Given the description of an element on the screen output the (x, y) to click on. 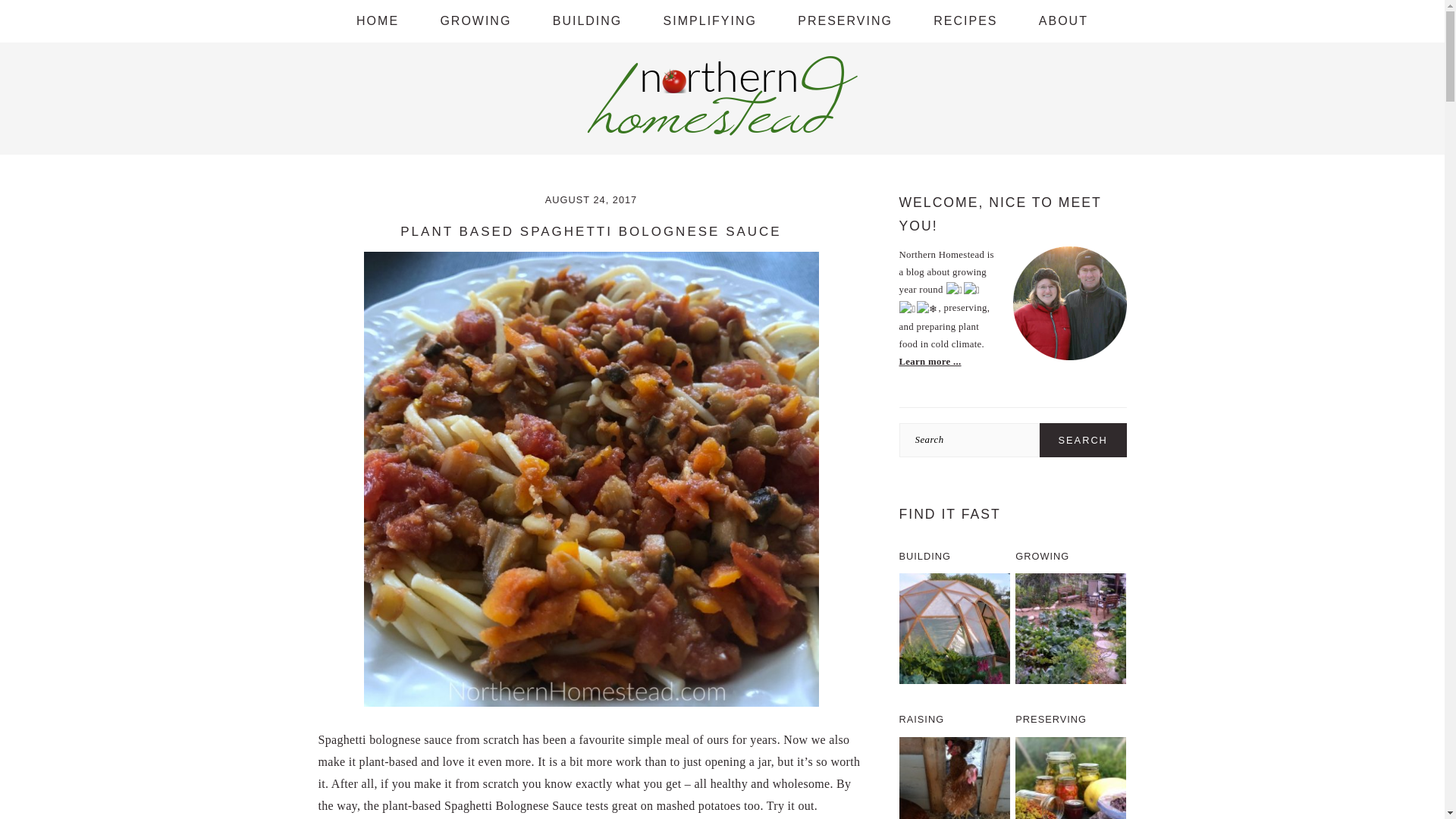
Northern Homestead (722, 94)
GROWING (474, 21)
Search (1082, 440)
Northern Homestead (722, 132)
Search (1082, 440)
PRESERVING (844, 21)
SIMPLIFYING (710, 21)
HOME (377, 21)
About (1063, 21)
